Given the description of an element on the screen output the (x, y) to click on. 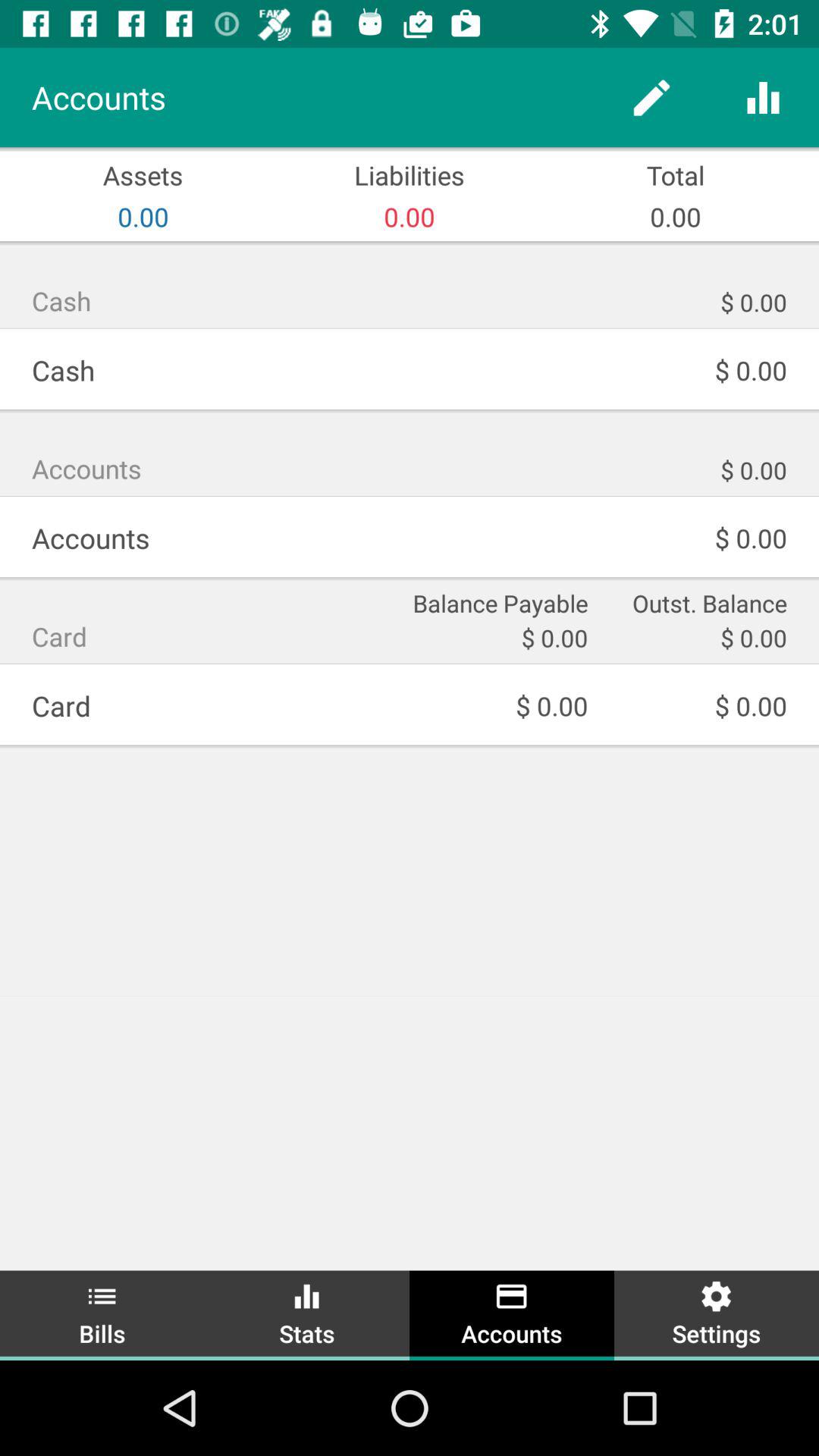
click the note (651, 97)
